Given the description of an element on the screen output the (x, y) to click on. 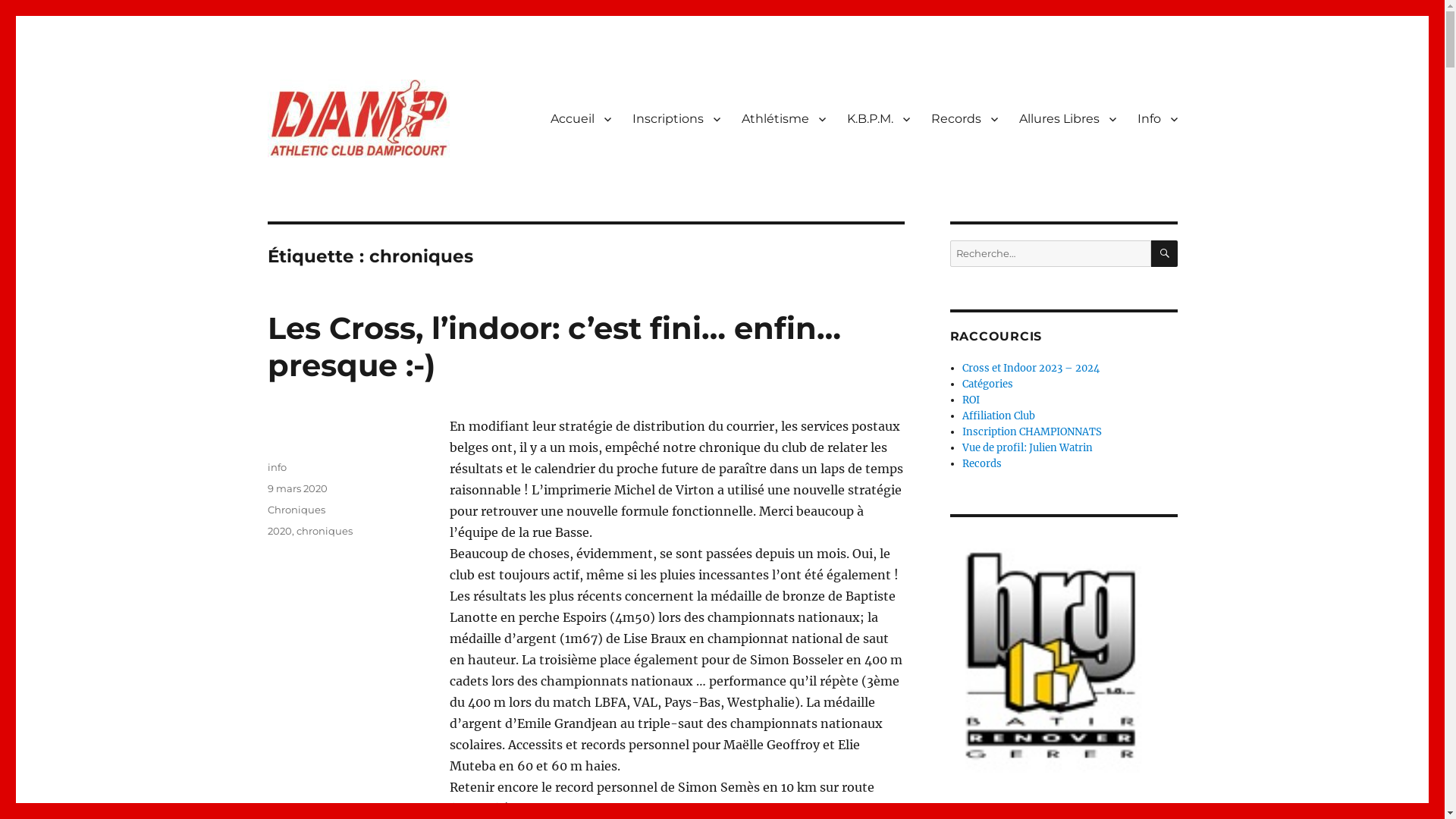
Inscriptions Element type: text (676, 118)
Affiliation Club Element type: text (998, 415)
2020 Element type: text (278, 530)
Records Element type: text (964, 118)
Accueil Element type: text (580, 118)
Info Element type: text (1157, 118)
Records Element type: text (981, 463)
Vue de profil: Julien Watrin Element type: text (1027, 447)
L'Athletic Club Dampicourt Element type: text (415, 181)
Chroniques Element type: text (295, 509)
9 mars 2020 Element type: text (296, 488)
chroniques Element type: text (323, 530)
Inscription CHAMPIONNATS Element type: text (1031, 431)
Allures Libres Element type: text (1067, 118)
K.B.P.M. Element type: text (877, 118)
info Element type: text (275, 467)
ROI Element type: text (970, 399)
RECHERCHE Element type: text (1164, 253)
